Given the description of an element on the screen output the (x, y) to click on. 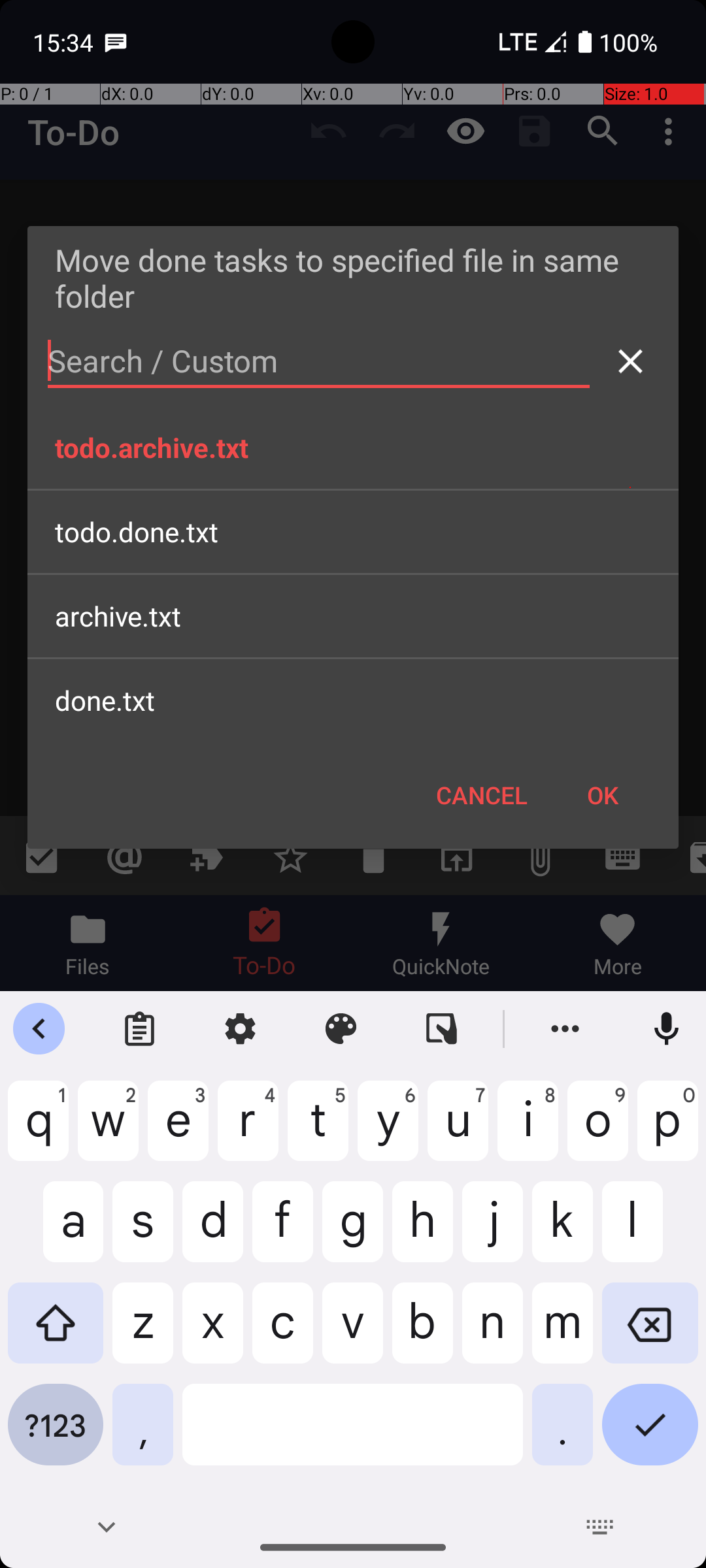
Move done tasks to specified file in same folder Element type: android.widget.TextView (352, 277)
Search / Custom Element type: android.widget.EditText (318, 360)
todo.archive.txt Element type: android.widget.TextView (352, 447)
todo.done.txt Element type: android.widget.TextView (352, 531)
archive.txt Element type: android.widget.TextView (352, 615)
done.txt Element type: android.widget.TextView (352, 700)
